Given the description of an element on the screen output the (x, y) to click on. 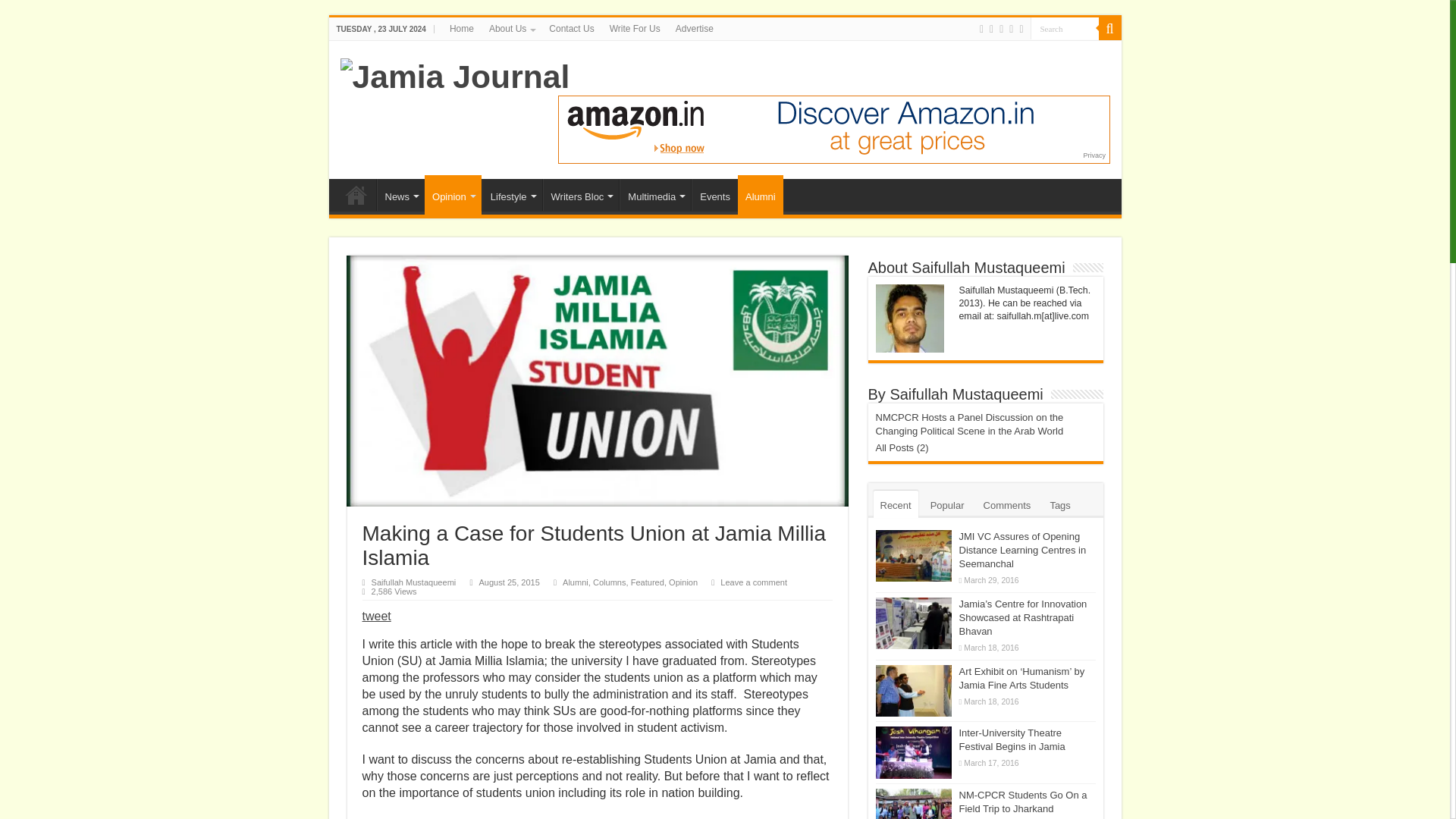
Search (1063, 28)
Search (1063, 28)
Jamia Journal (454, 74)
